Given the description of an element on the screen output the (x, y) to click on. 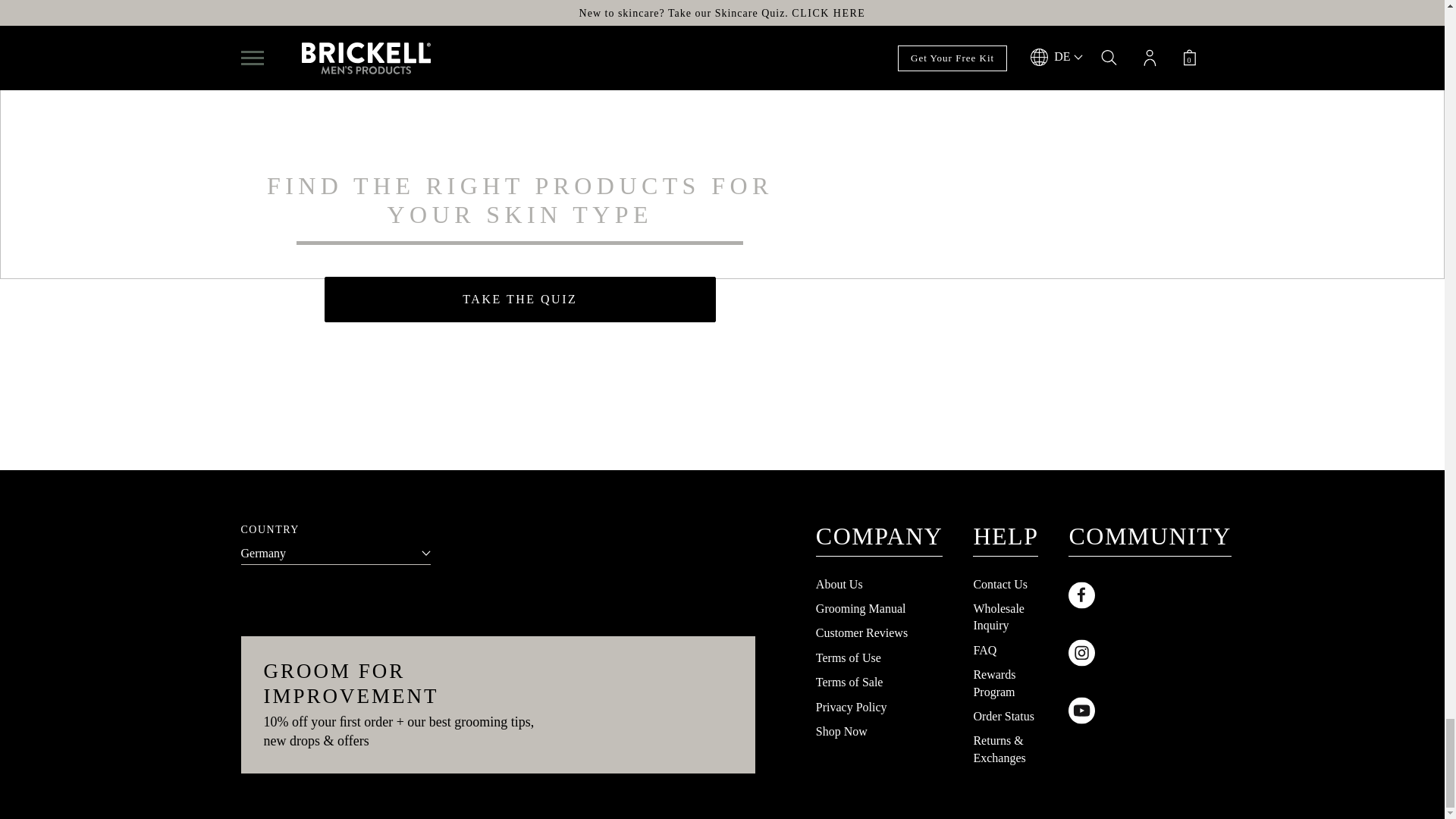
Follow us on Facebook (1149, 595)
Follow us on Instagram (1149, 652)
Follow us on Youtube (1149, 710)
